Given the description of an element on the screen output the (x, y) to click on. 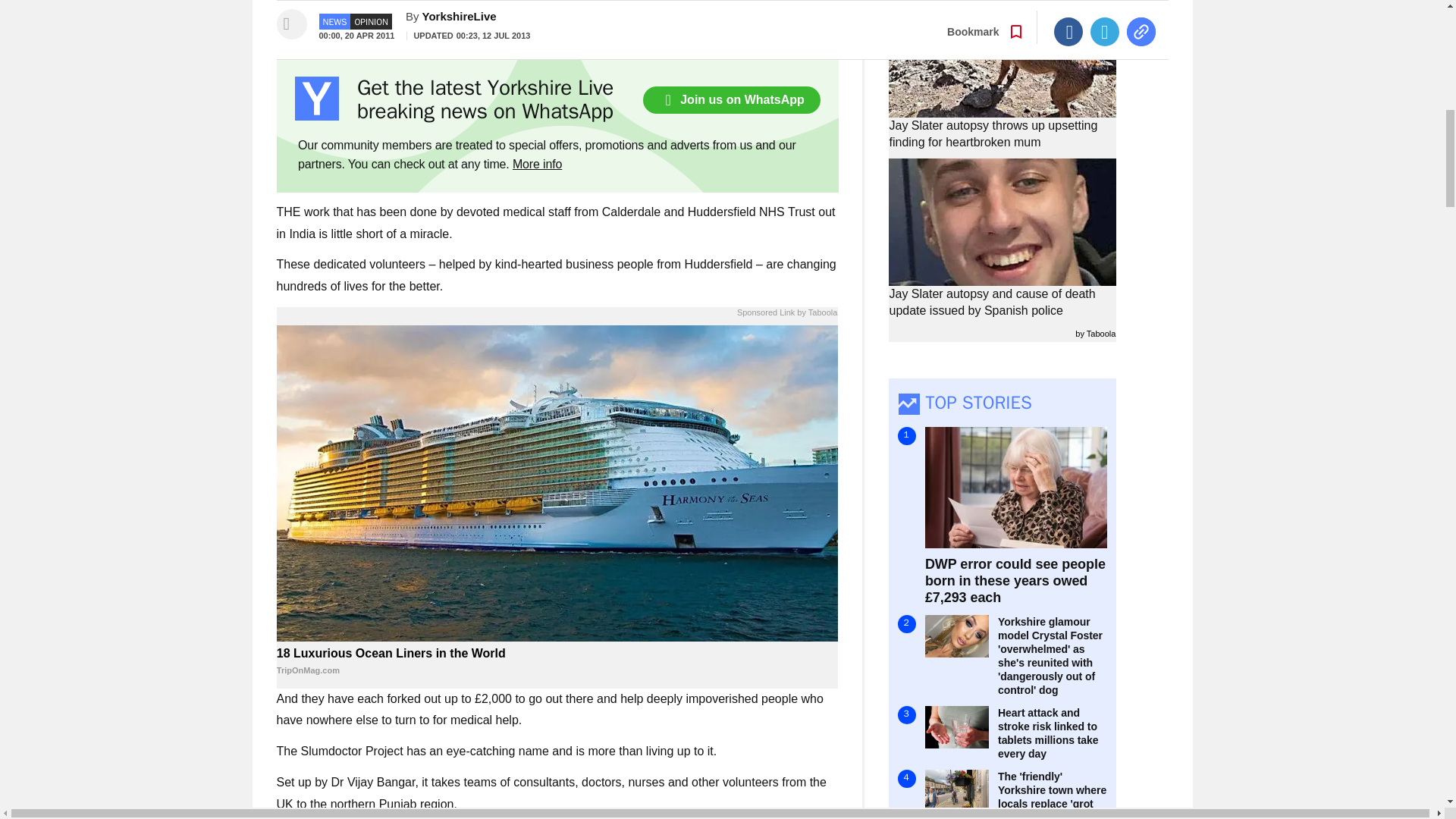
18 Luxurious Ocean Liners in the World (557, 661)
Go (730, 15)
